Given the description of an element on the screen output the (x, y) to click on. 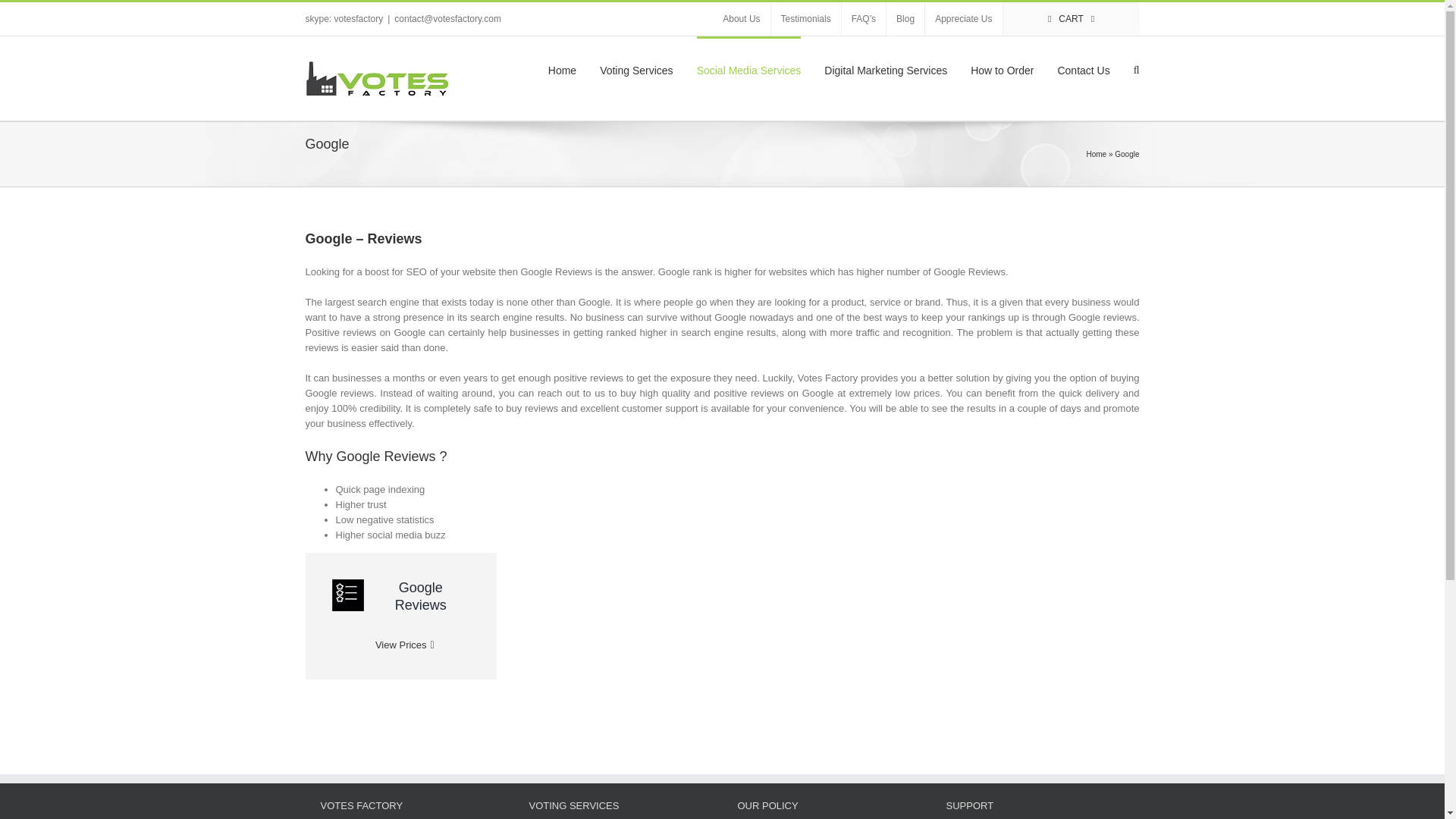
Blog (905, 19)
Appreciate Us (962, 19)
Social Media Services (749, 68)
Voting Services (635, 68)
Testimonials (806, 19)
CART (1071, 19)
About Us (741, 19)
